Given the description of an element on the screen output the (x, y) to click on. 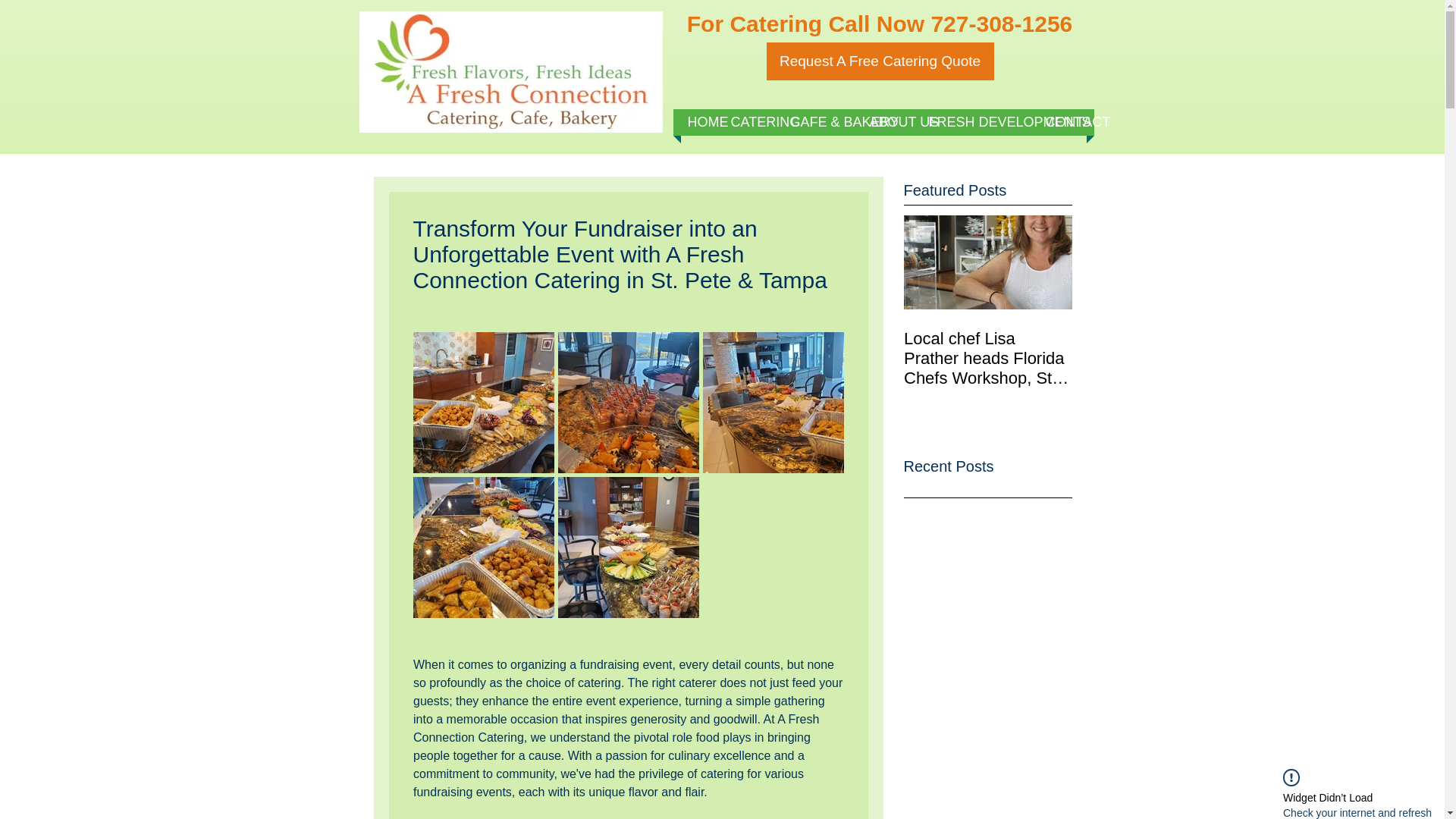
CATERING (753, 121)
ABOUT US (890, 121)
Request A Free Catering Quote (878, 61)
HOME (700, 121)
FRESH DEVELOPMENTS (978, 121)
CONTACT (1064, 121)
